Given the description of an element on the screen output the (x, y) to click on. 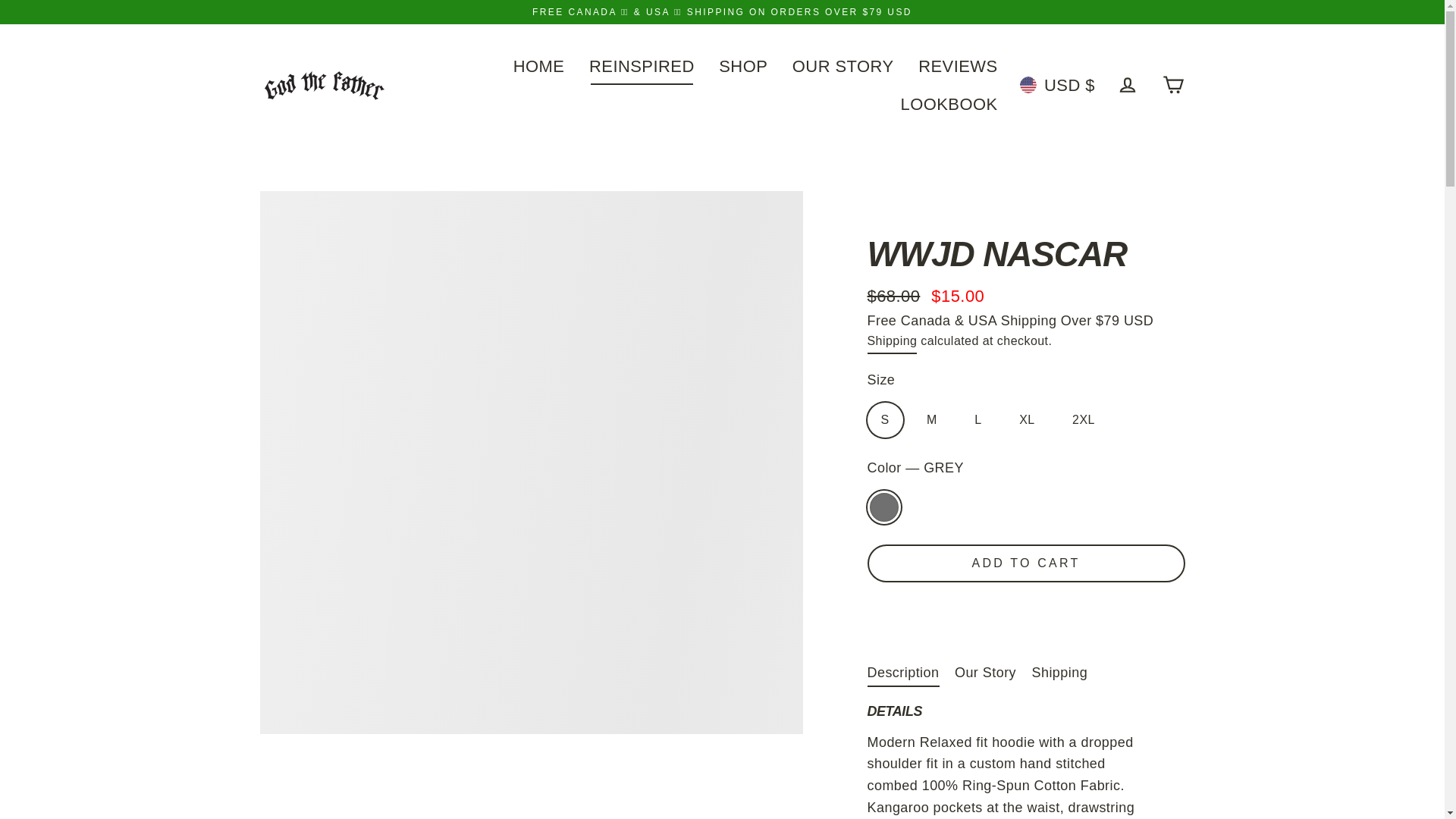
SHOP (743, 65)
HOME (539, 65)
REVIEWS (957, 65)
Log in (1127, 84)
